Given the description of an element on the screen output the (x, y) to click on. 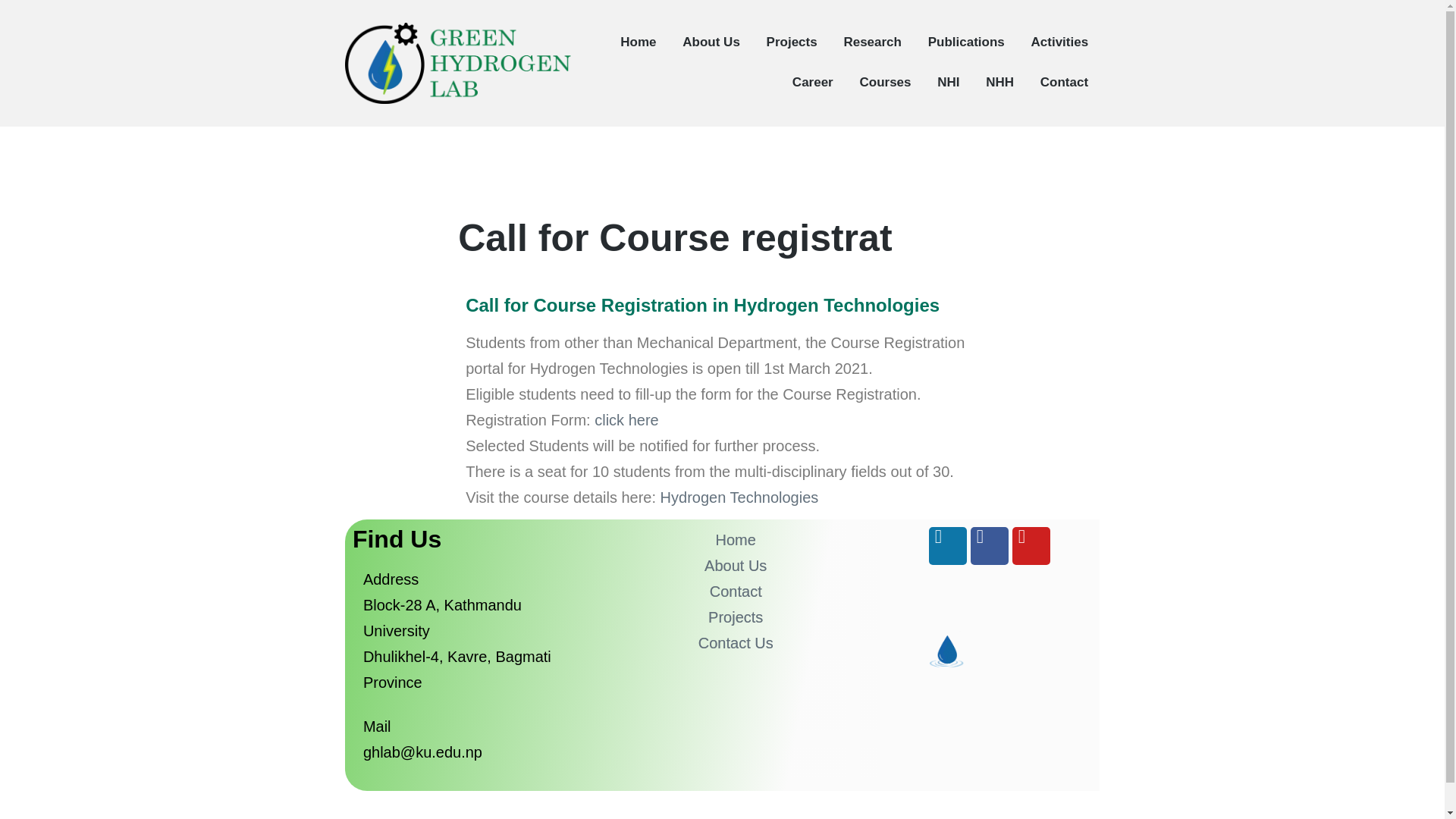
Home (638, 42)
click here (626, 419)
Publications (966, 42)
Hydrogen Technologies (739, 497)
Green Hydrogen Lab (442, 115)
Research (872, 42)
Career (812, 82)
NHH (999, 82)
Home (735, 539)
Courses (885, 82)
